Given the description of an element on the screen output the (x, y) to click on. 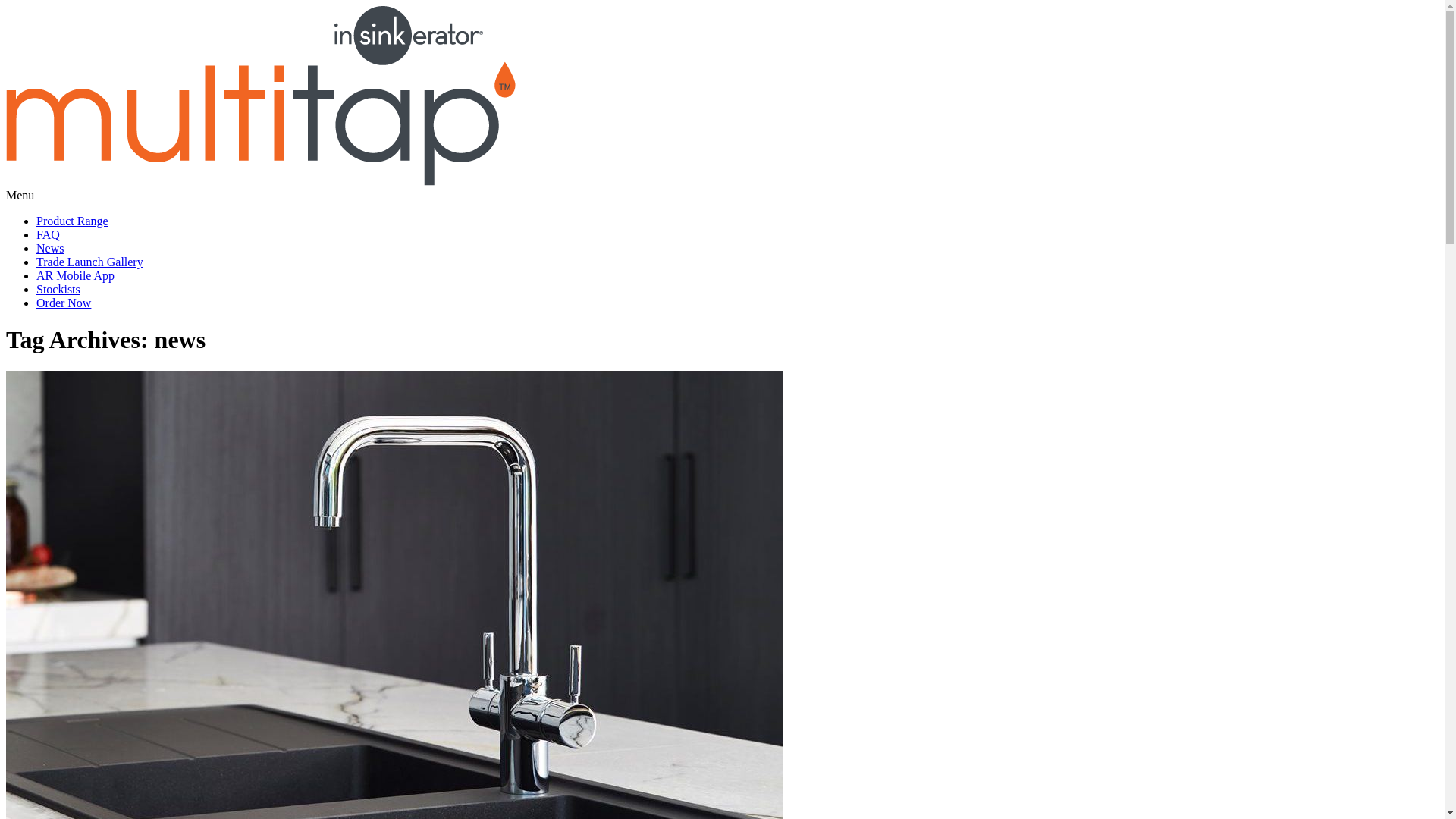
News Element type: text (49, 247)
Trade Launch Gallery Element type: text (89, 261)
Stockists Element type: text (58, 288)
Order Now Element type: text (63, 302)
FAQ Element type: text (47, 234)
Product Range Element type: text (72, 220)
AR Mobile App Element type: text (75, 275)
